Given the description of an element on the screen output the (x, y) to click on. 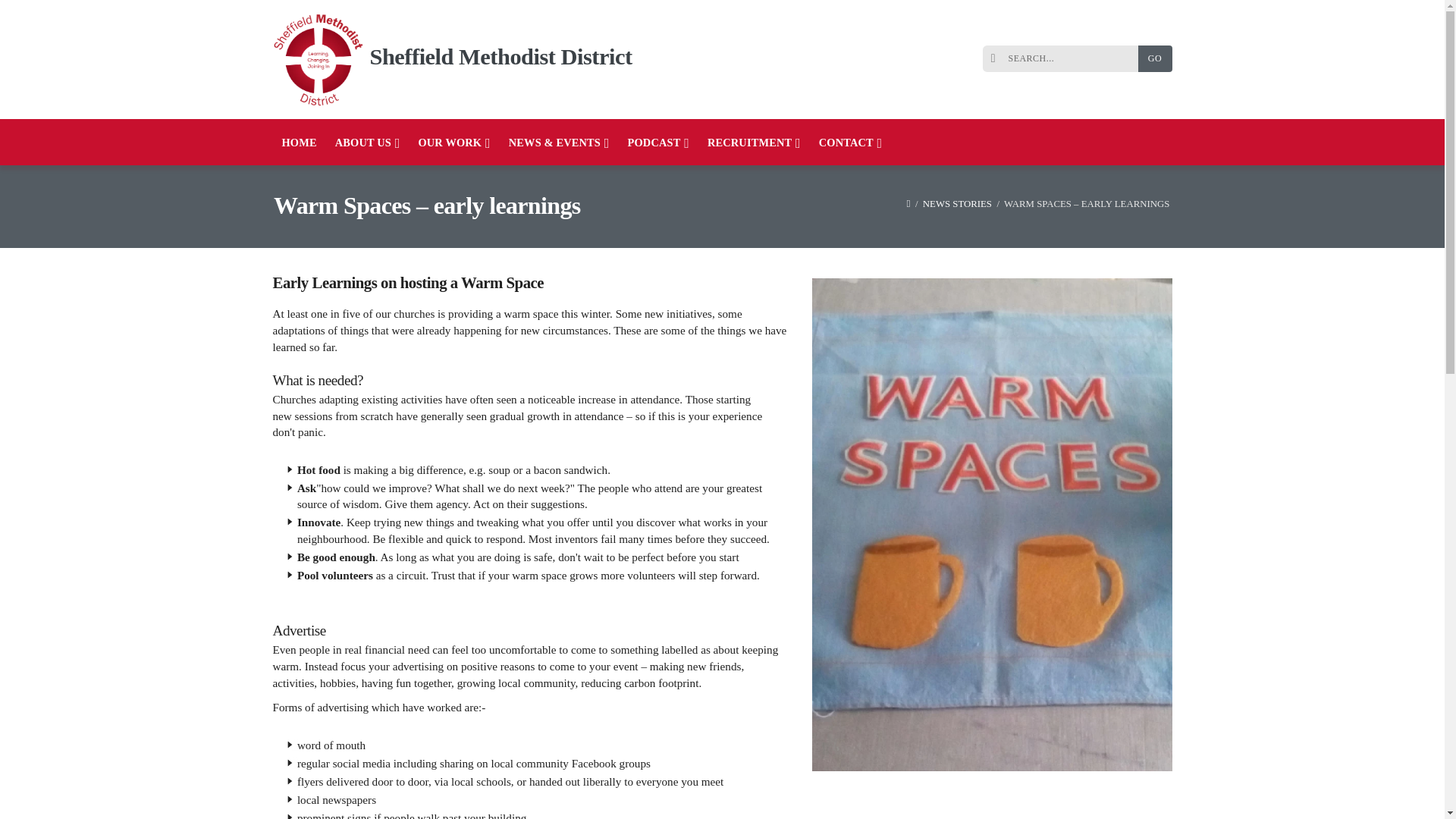
PODCAST (658, 141)
ABOUT US (367, 141)
HOME (299, 141)
GO (1154, 58)
OUR WORK (454, 141)
SEARCH... (1064, 58)
